Given the description of an element on the screen output the (x, y) to click on. 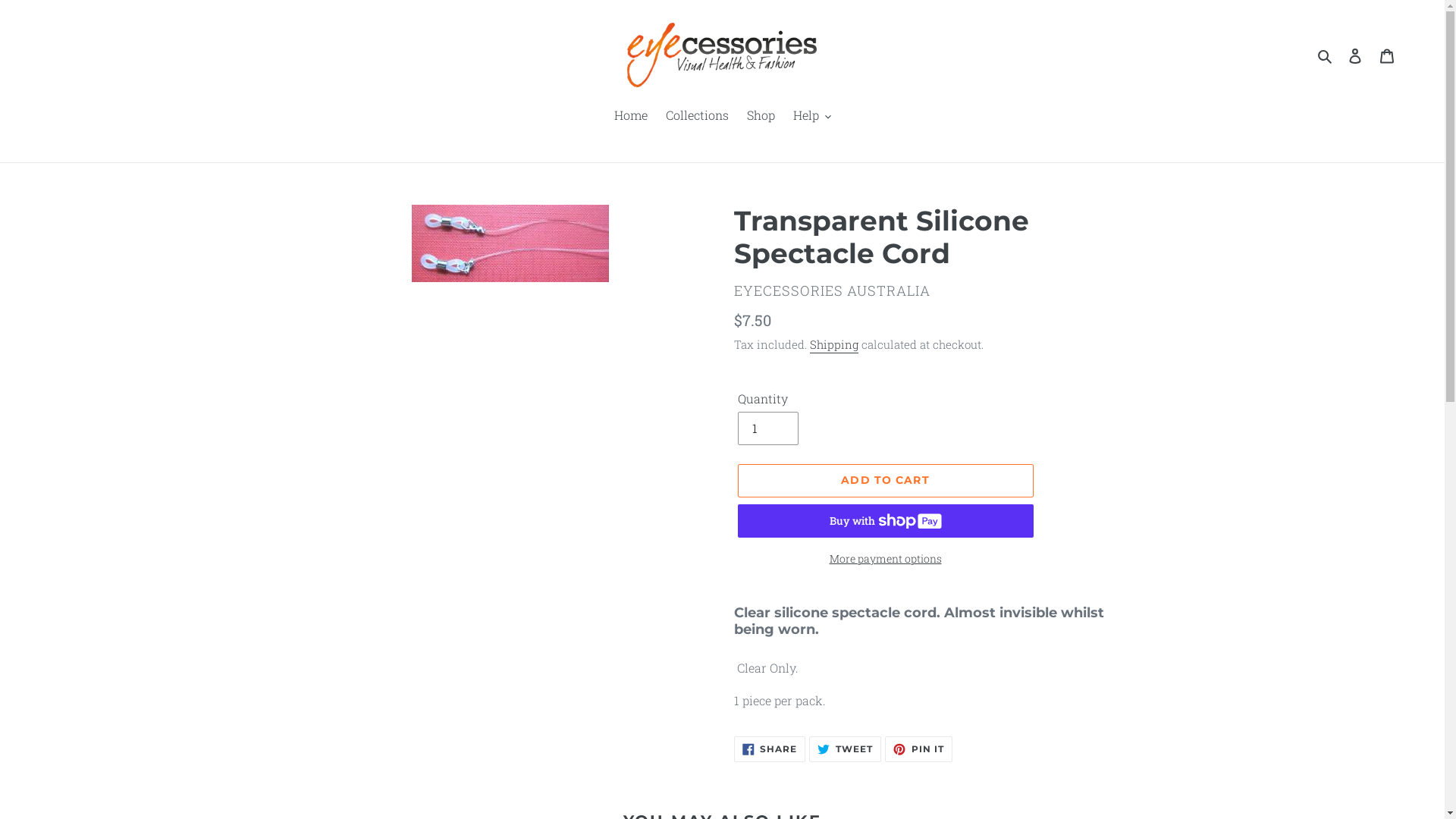
SHARE
SHARE ON FACEBOOK Element type: text (770, 749)
Collections Element type: text (697, 116)
Log in Element type: text (1355, 54)
PIN IT
PIN ON PINTEREST Element type: text (918, 749)
More payment options Element type: text (884, 558)
TWEET
TWEET ON TWITTER Element type: text (845, 749)
Shop Element type: text (759, 116)
Home Element type: text (630, 116)
Help Element type: text (811, 116)
Shipping Element type: text (833, 344)
Cart Element type: text (1386, 54)
ADD TO CART Element type: text (884, 479)
Search Element type: text (1325, 54)
